Given the description of an element on the screen output the (x, y) to click on. 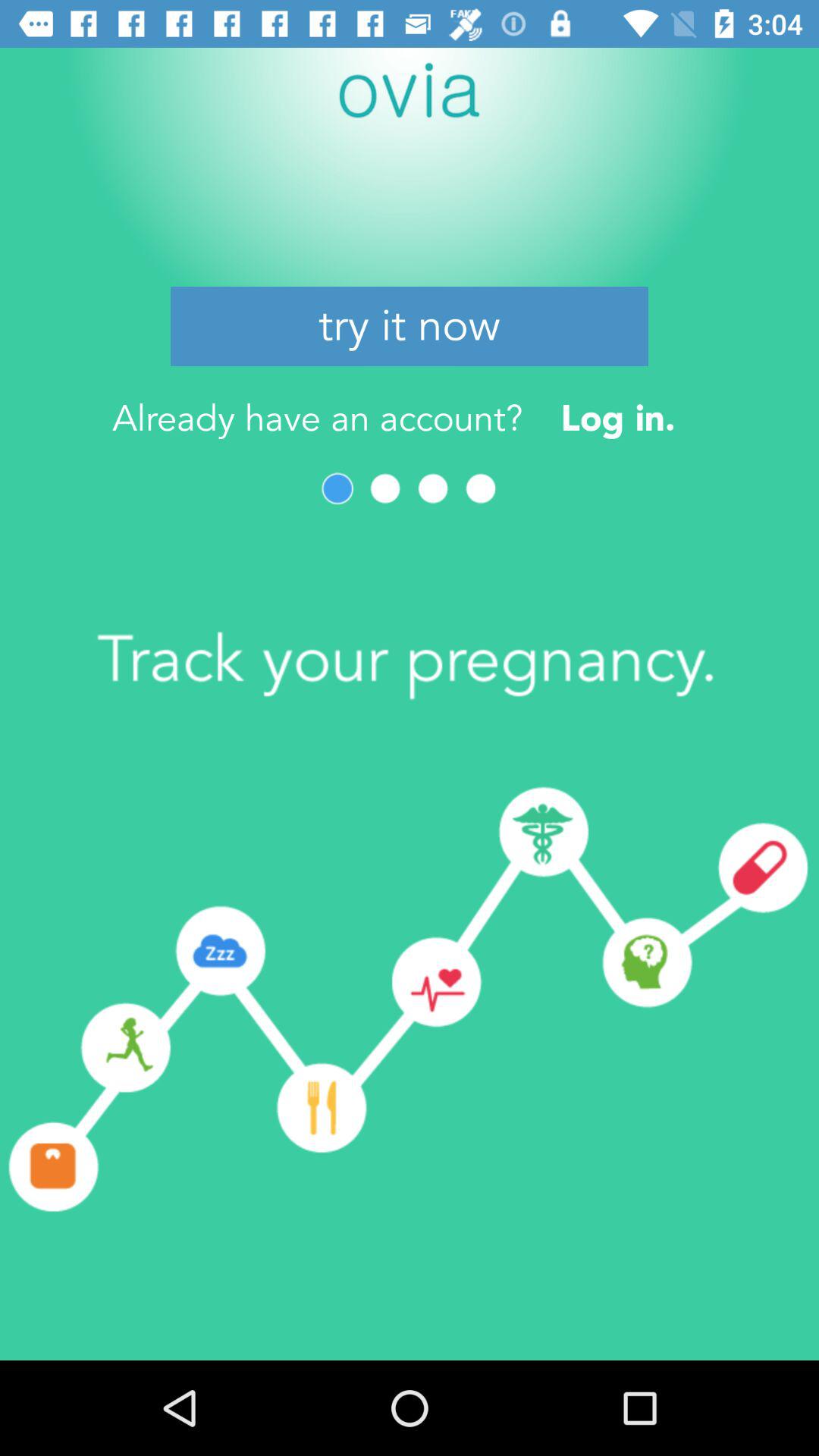
next image (385, 488)
